Given the description of an element on the screen output the (x, y) to click on. 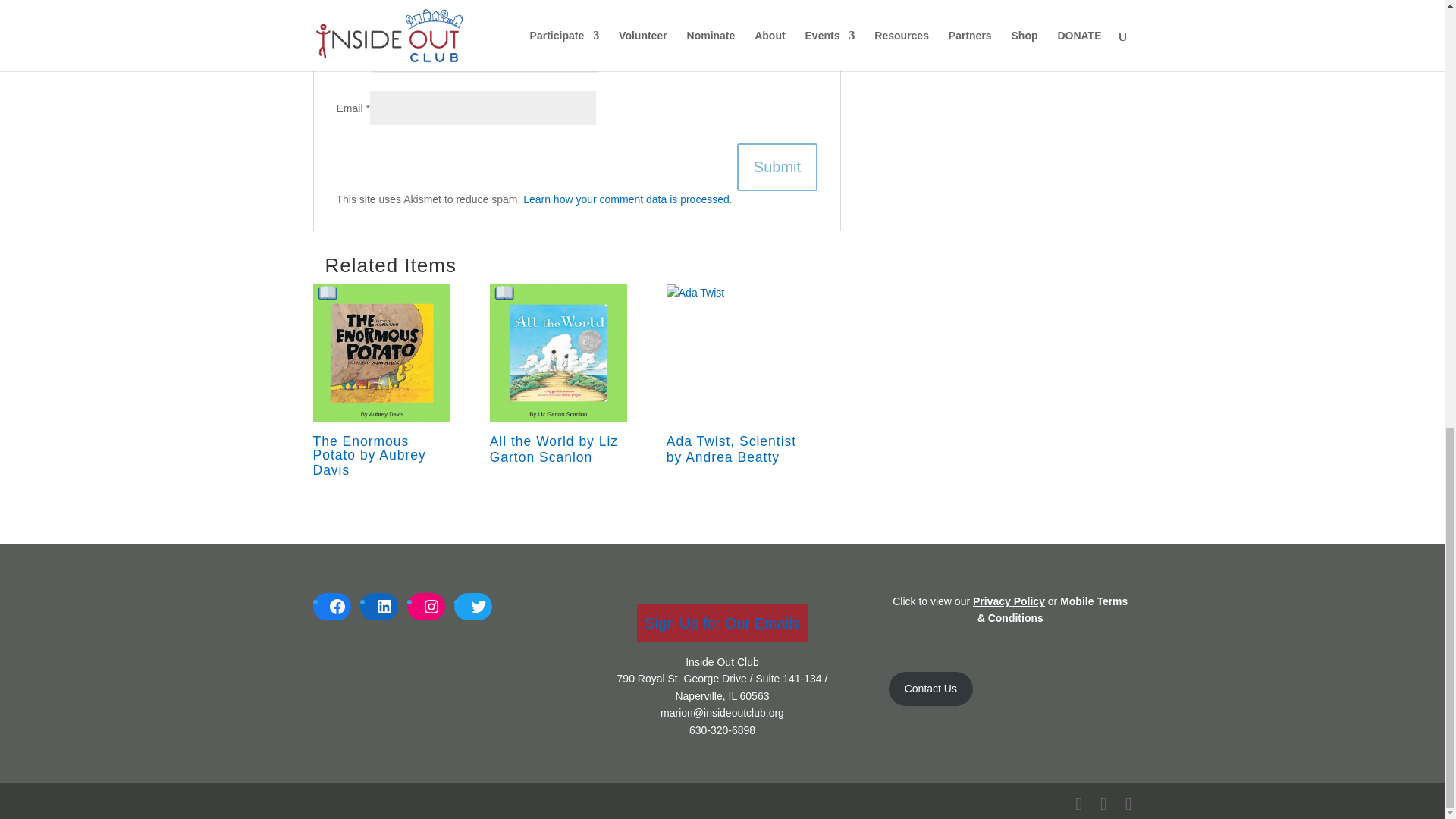
Submit (776, 166)
Submit (776, 166)
Learn how your comment data is processed (625, 199)
